Given the description of an element on the screen output the (x, y) to click on. 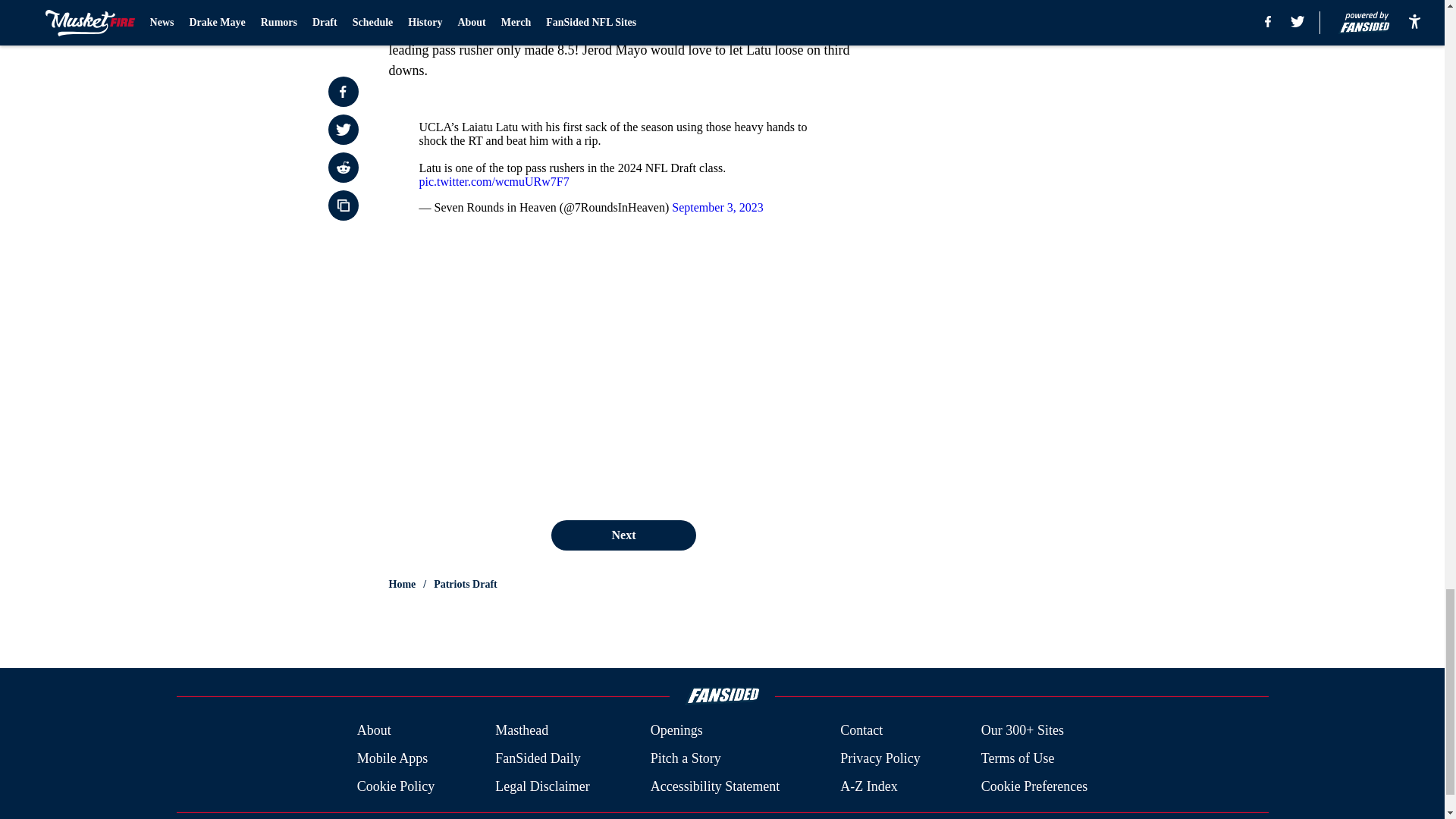
Masthead (521, 730)
About (373, 730)
Home (401, 584)
able to avoid blocks with surprising ease (619, 18)
Patriots Draft (465, 584)
Next (622, 535)
September 3, 2023 (716, 206)
Contact (861, 730)
Openings (676, 730)
